Given the description of an element on the screen output the (x, y) to click on. 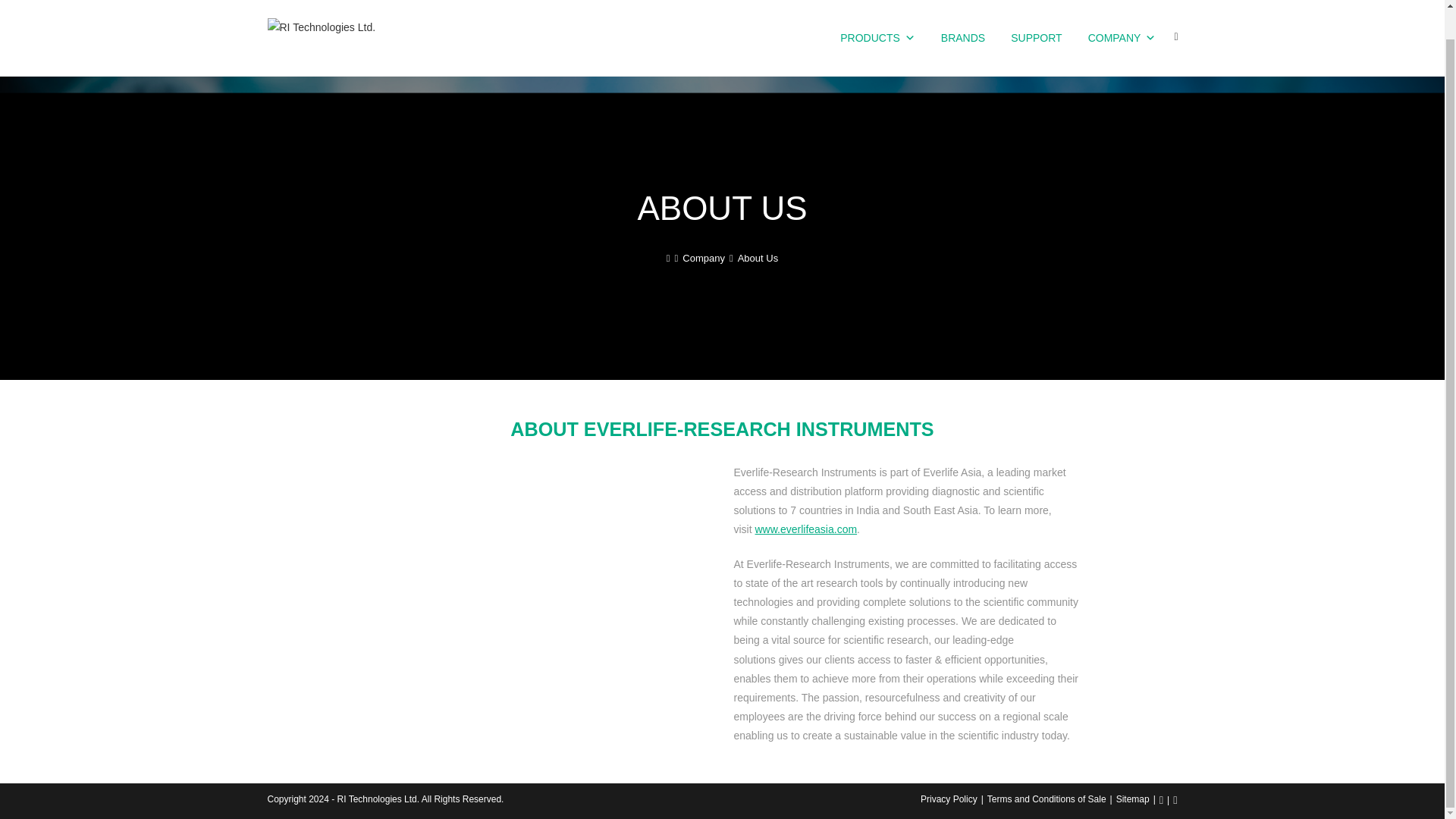
COMPANY (1121, 38)
PRODUCTS (877, 38)
Sitemap (1133, 798)
Privacy Policy (948, 798)
Terms and Conditions of Sale (1046, 798)
www.everlifeasia.com (806, 529)
Company (703, 257)
